Given the description of an element on the screen output the (x, y) to click on. 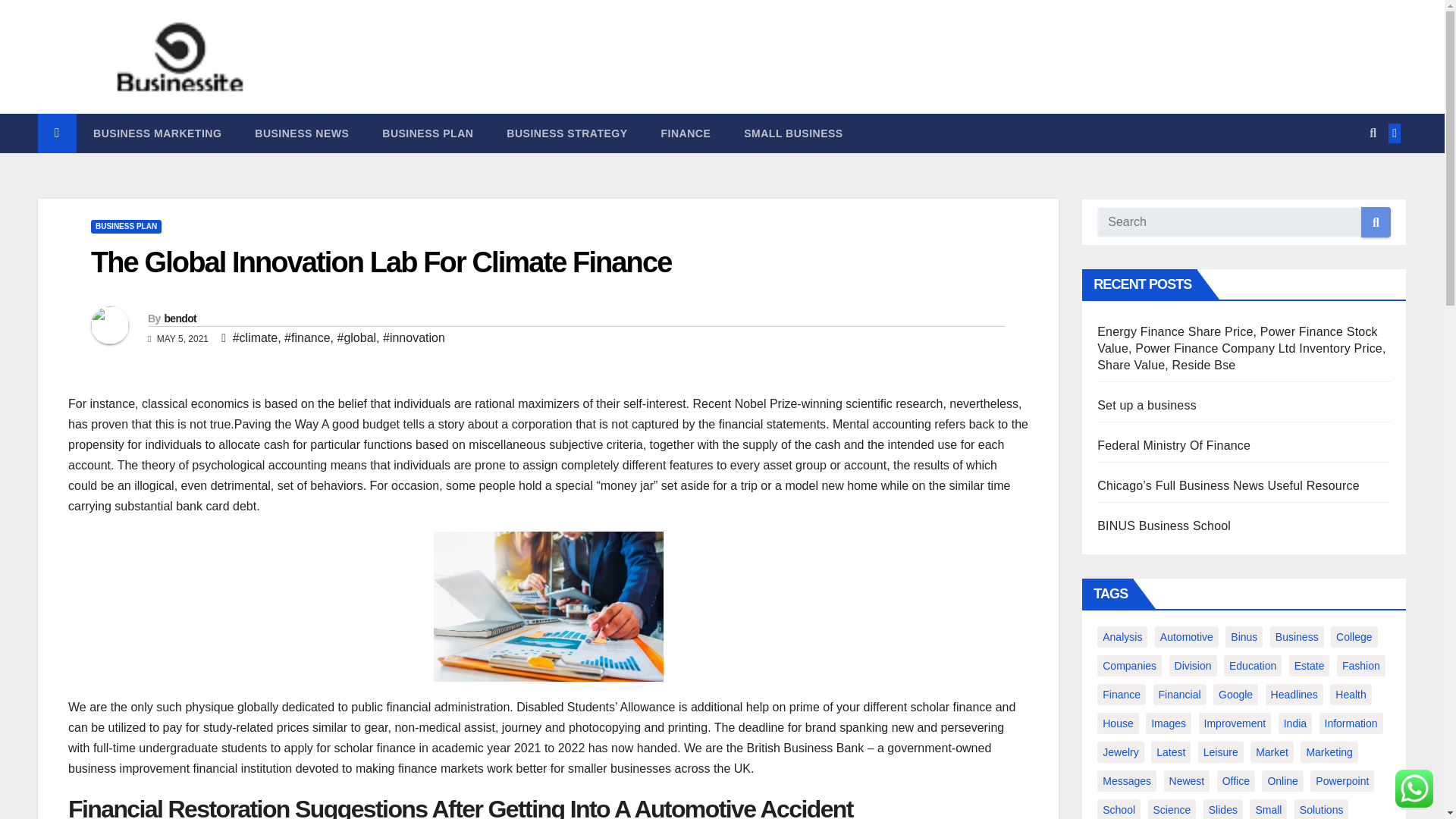
Business News (301, 133)
BUSINESS MARKETING (157, 133)
BUSINESS PLAN (125, 226)
BUSINESS NEWS (301, 133)
Business Strategy (566, 133)
BUSINESS PLAN (427, 133)
Business Plan (427, 133)
Business Marketing (157, 133)
bendot (179, 318)
Finance (686, 133)
BUSINESS STRATEGY (566, 133)
FINANCE (686, 133)
SMALL BUSINESS (792, 133)
Small Business (792, 133)
Permalink to: The Global Innovation Lab For Climate Finance (380, 262)
